Given the description of an element on the screen output the (x, y) to click on. 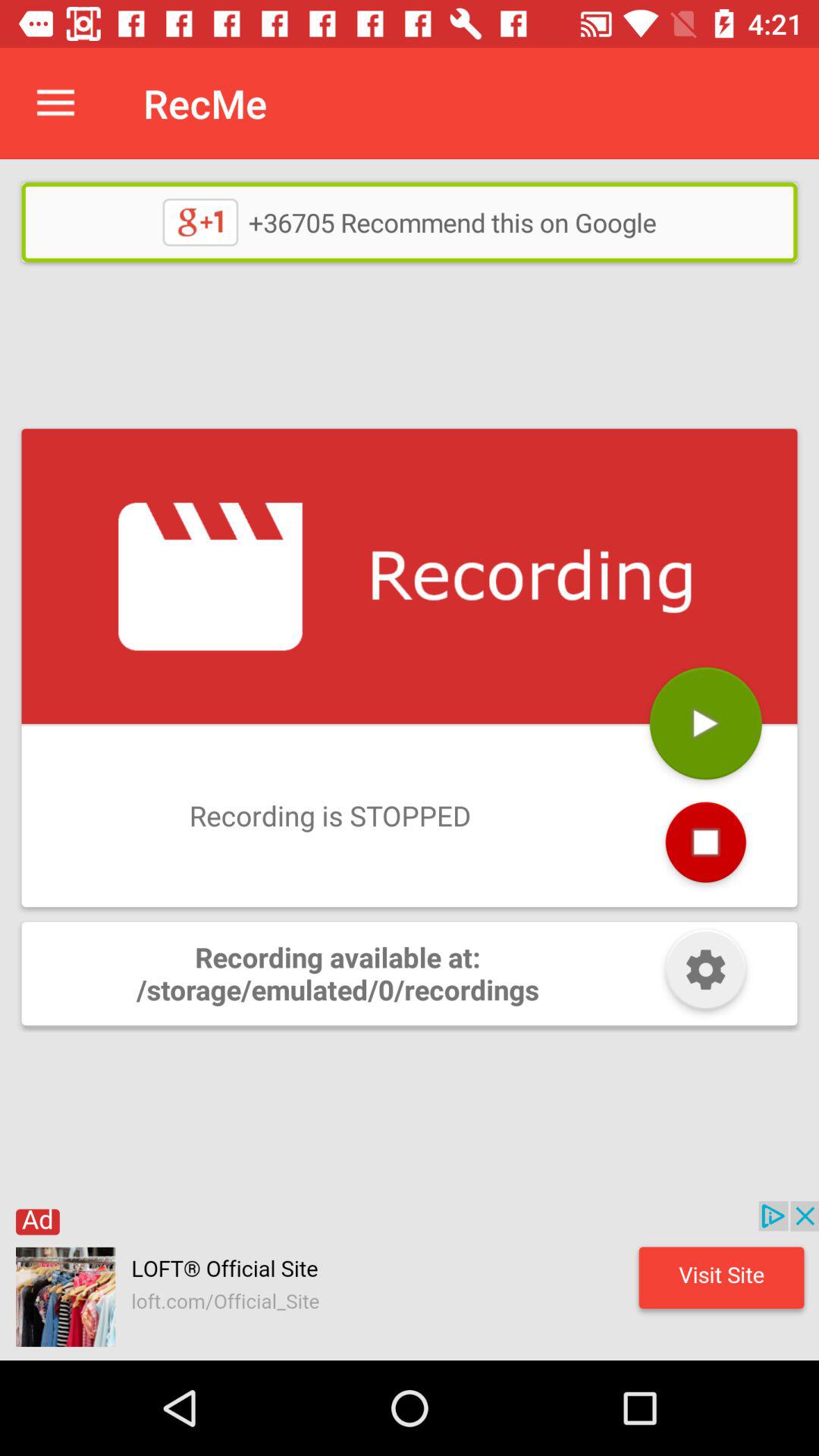
settings (705, 973)
